Given the description of an element on the screen output the (x, y) to click on. 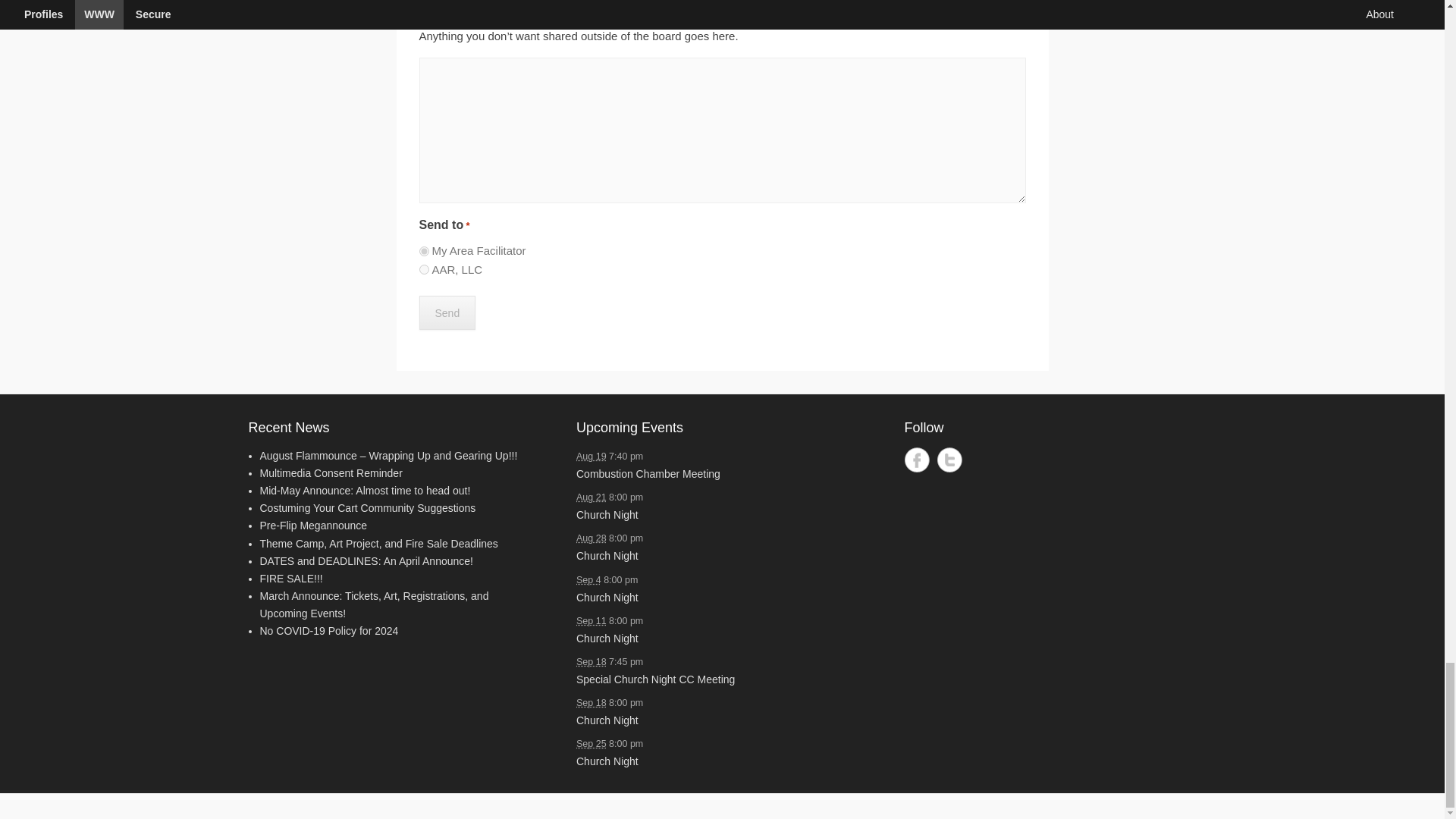
2024-08-21T20:00:00-05:00 (591, 497)
2024-09-04T20:00:00-05:00 (588, 579)
Send (447, 312)
2024-08-28T20:00:00-05:00 (591, 538)
llc (423, 269)
